Given the description of an element on the screen output the (x, y) to click on. 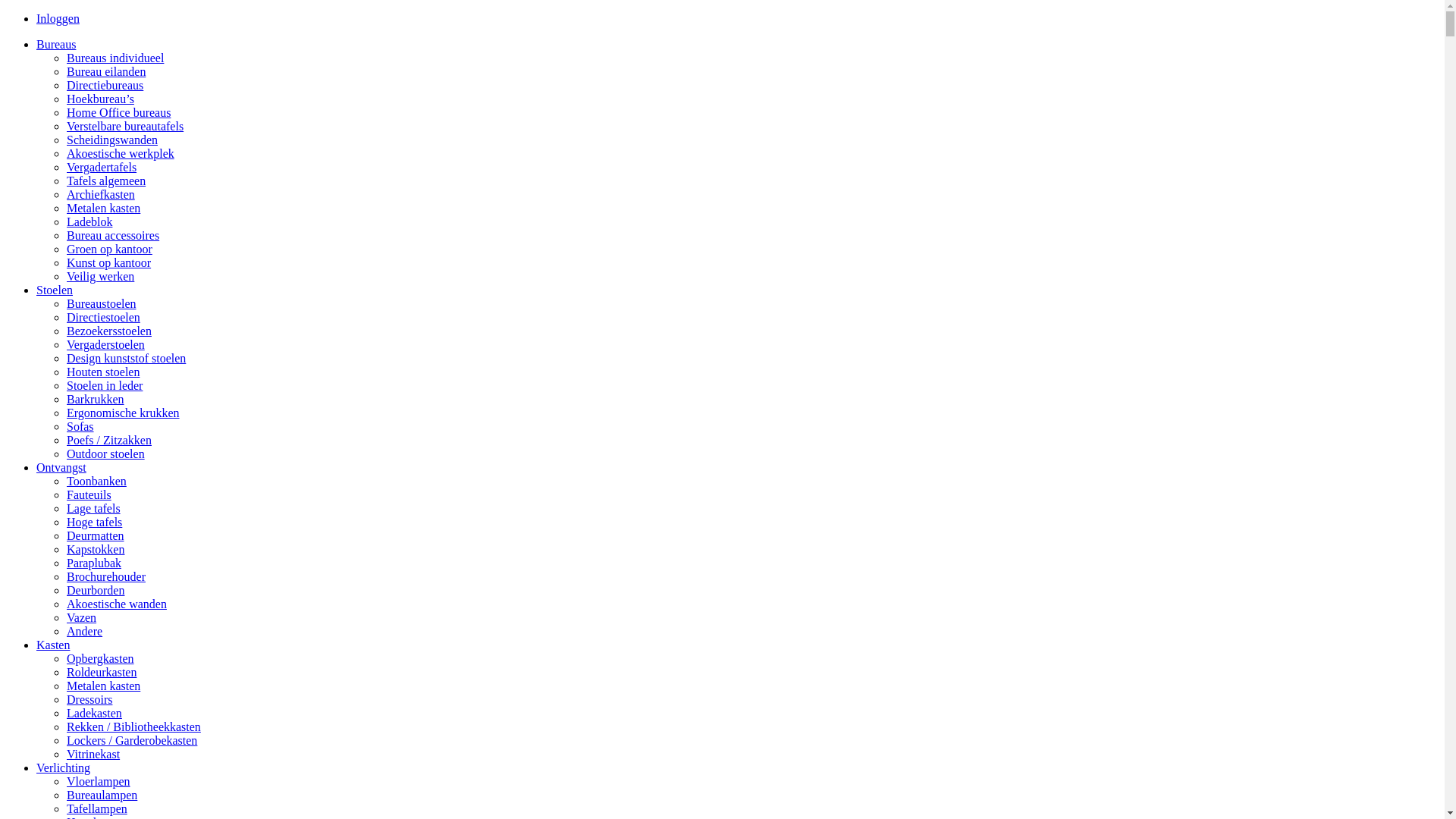
Stoelen Element type: text (54, 289)
Roldeurkasten Element type: text (101, 671)
Vergaderstoelen Element type: text (105, 344)
Vazen Element type: text (81, 617)
Toonbanken Element type: text (96, 480)
Groen op kantoor Element type: text (109, 248)
Deurborden Element type: text (95, 589)
Lockers / Garderobekasten Element type: text (131, 740)
Rekken / Bibliotheekkasten Element type: text (133, 726)
Veilig werken Element type: text (100, 275)
Hoge tafels Element type: text (94, 521)
Scheidingswanden Element type: text (111, 139)
Ergonomische krukken Element type: text (122, 412)
Outdoor stoelen Element type: text (105, 453)
Bureaulampen Element type: text (101, 794)
Akoestische wanden Element type: text (116, 603)
Home Office bureaus Element type: text (118, 112)
Lage tafels Element type: text (93, 508)
Dressoirs Element type: text (89, 699)
Poefs / Zitzakken Element type: text (108, 439)
Fauteuils Element type: text (88, 494)
Ladeblok Element type: text (89, 221)
Bureaus Element type: text (55, 43)
Tafels algemeen Element type: text (105, 180)
Directiebureaus Element type: text (104, 84)
Bezoekersstoelen Element type: text (108, 330)
Sofas Element type: text (80, 426)
Andere Element type: text (84, 630)
Bureau accessoires Element type: text (112, 235)
Metalen kasten Element type: text (103, 685)
Bureaustoelen Element type: text (101, 303)
Verstelbare bureautafels Element type: text (124, 125)
Ontvangst Element type: text (61, 467)
Vergadertafels Element type: text (101, 166)
Kunst op kantoor Element type: text (108, 262)
Vloerlampen Element type: text (98, 781)
Vitrinekast Element type: text (92, 753)
Metalen kasten Element type: text (103, 207)
Kapstokken Element type: text (95, 548)
Archiefkasten Element type: text (100, 194)
Verlichting Element type: text (63, 767)
Tafellampen Element type: text (96, 808)
Deurmatten Element type: text (95, 535)
Akoestische werkplek Element type: text (120, 153)
Paraplubak Element type: text (93, 562)
Brochurehouder Element type: text (105, 576)
Stoelen in leder Element type: text (104, 385)
Houten stoelen Element type: text (102, 371)
Inloggen Element type: text (57, 18)
Barkrukken Element type: text (95, 398)
Kasten Element type: text (52, 644)
Design kunststof stoelen Element type: text (125, 357)
Directiestoelen Element type: text (103, 316)
Bureaus individueel Element type: text (114, 57)
Ladekasten Element type: text (94, 712)
Bureau eilanden Element type: text (105, 71)
Opbergkasten Element type: text (100, 658)
